Given the description of an element on the screen output the (x, y) to click on. 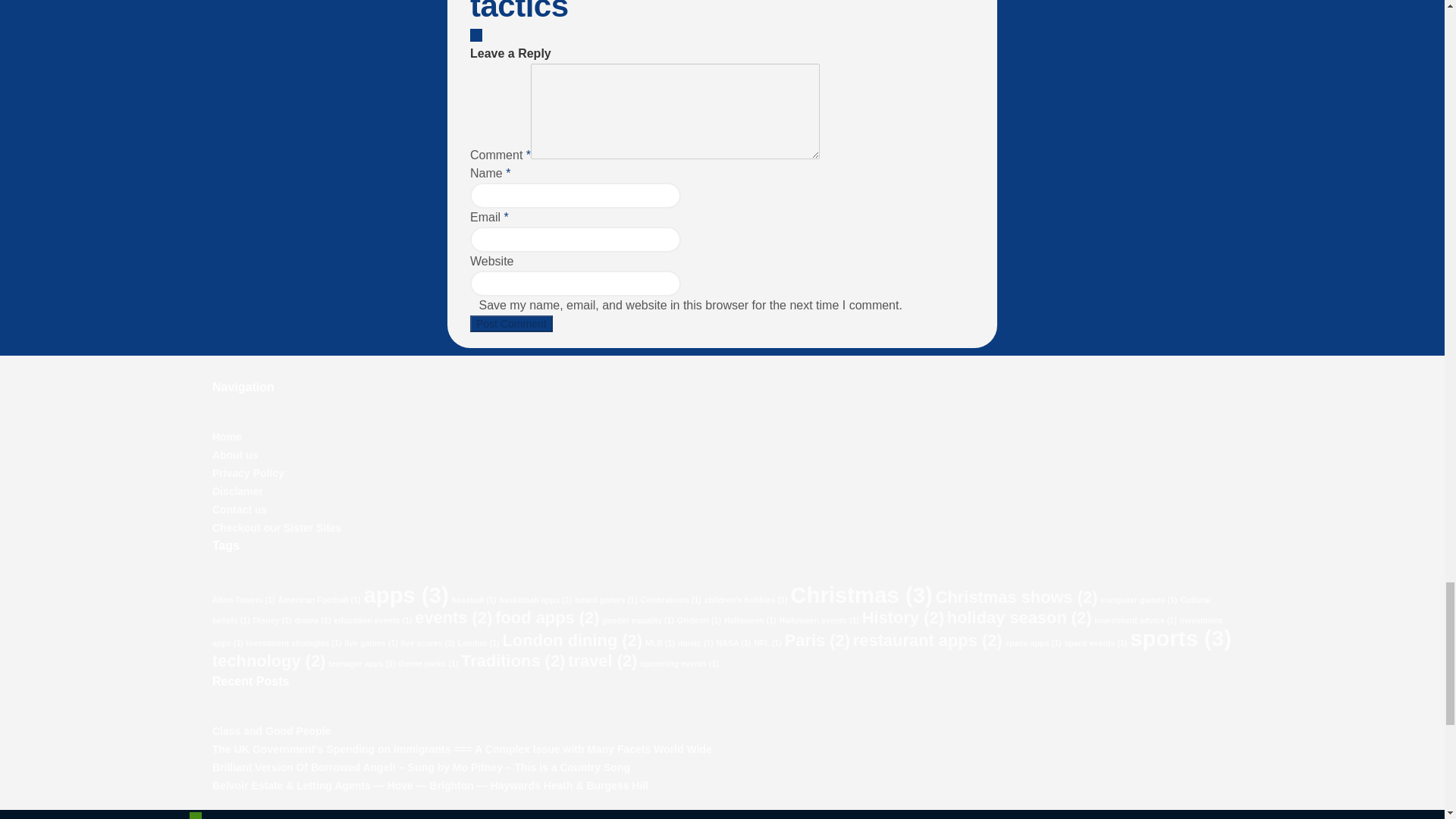
Post Comment (511, 323)
